Given the description of an element on the screen output the (x, y) to click on. 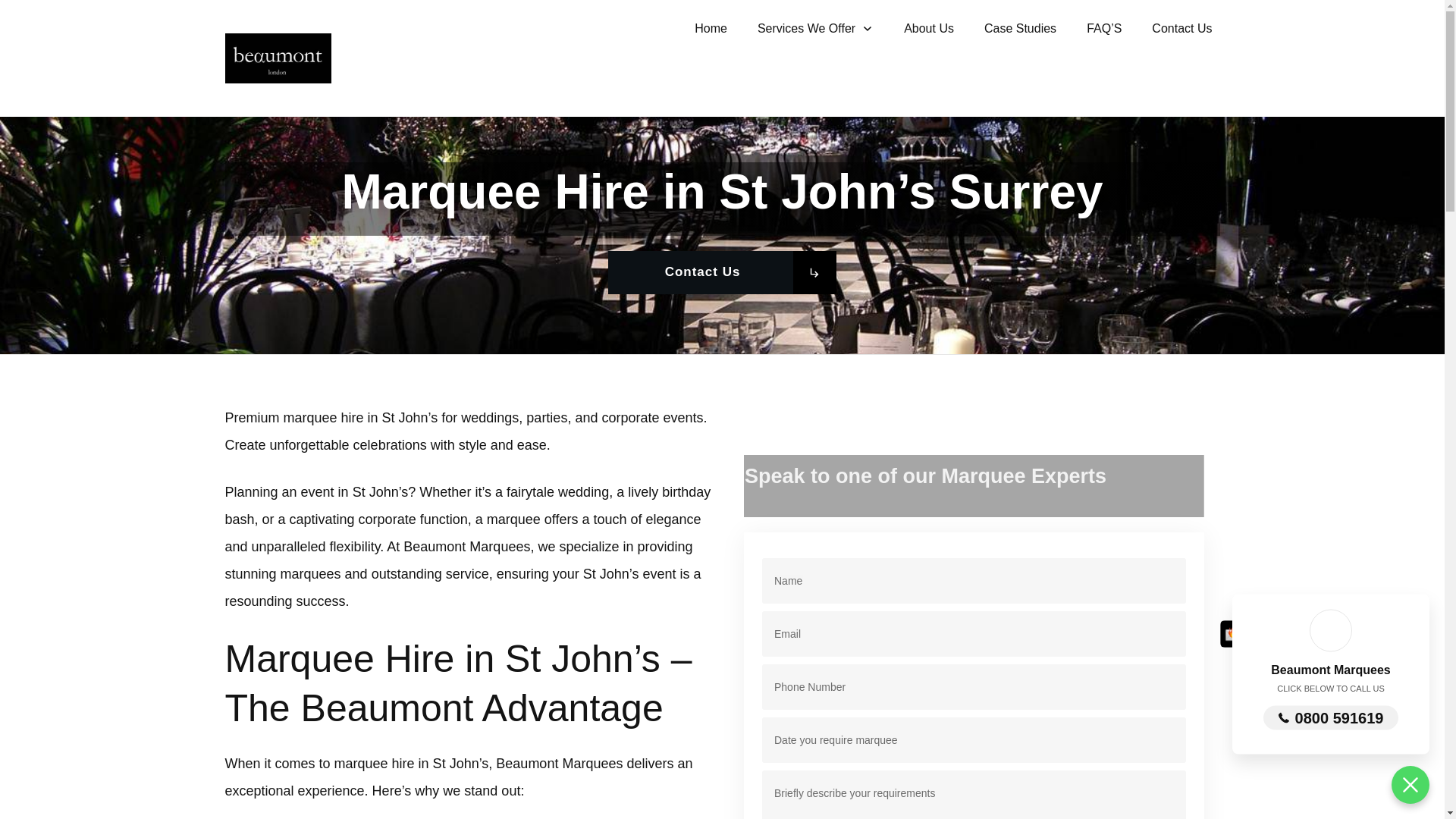
Contact Us (722, 272)
About Us (928, 28)
0800 591619 (1331, 717)
Case Studies (1020, 28)
Contact Us (1181, 28)
Home (710, 28)
Services We Offer (815, 28)
